Given the description of an element on the screen output the (x, y) to click on. 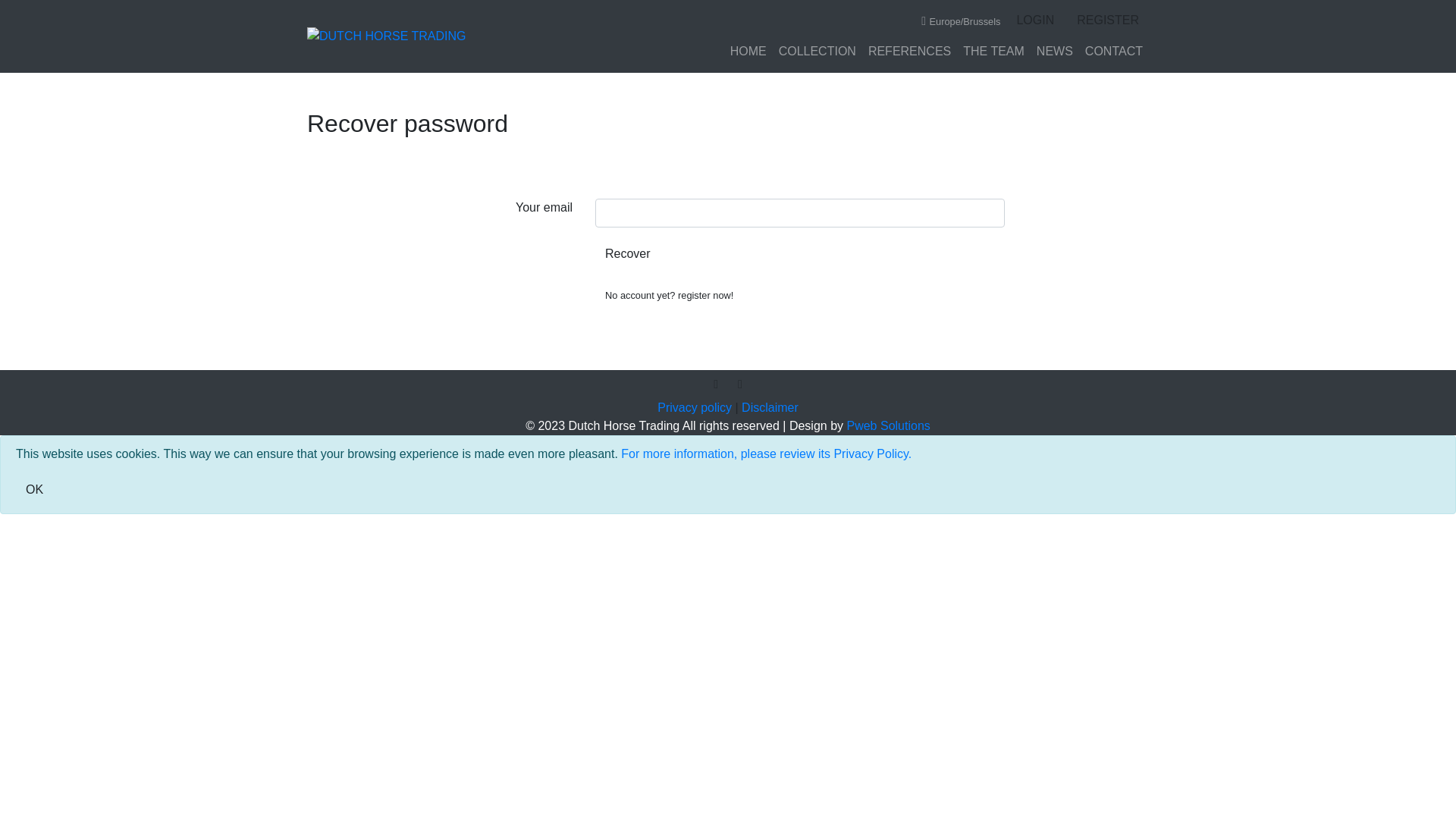
For more information, please review its Privacy Policy. Element type: text (766, 453)
NEWS Element type: text (1054, 51)
REFERENCES Element type: text (909, 51)
COLLECTION Element type: text (817, 51)
REGISTER Element type: text (1107, 20)
CONTACT Element type: text (1113, 51)
Disclaimer Element type: text (769, 407)
THE TEAM Element type: text (993, 51)
Recover Element type: text (627, 253)
Privacy policy Element type: text (694, 407)
No account yet? register now! Element type: text (669, 294)
Pweb Solutions Element type: text (887, 425)
LOGIN Element type: text (1034, 20)
HOME Element type: text (748, 51)
Europe/Brussels Element type: text (960, 21)
OK Element type: text (34, 489)
